Given the description of an element on the screen output the (x, y) to click on. 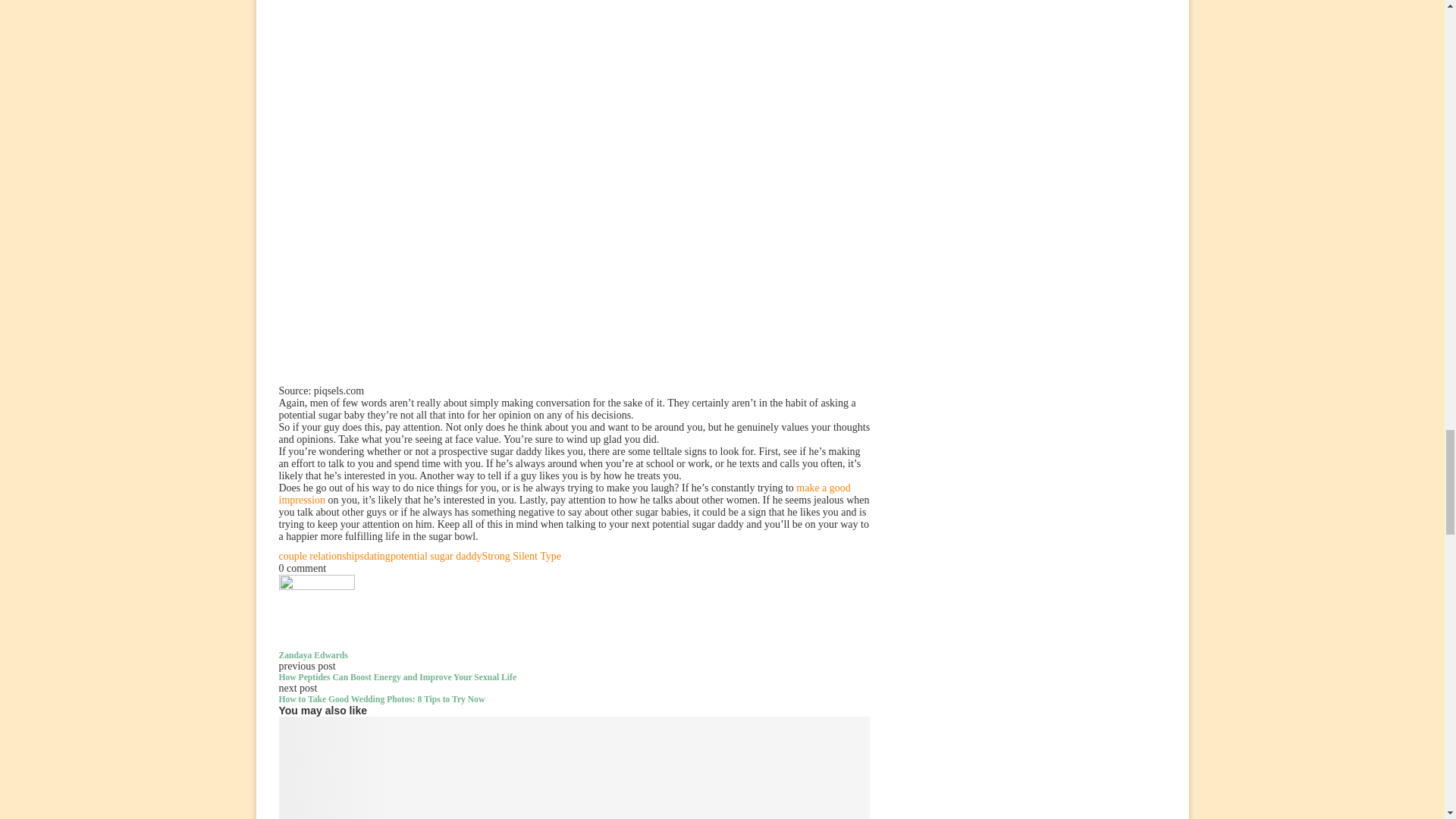
couple relationships (321, 555)
Strong Silent Type (520, 555)
Zandaya Edwards (313, 655)
Author Zandaya Edwards (313, 655)
How Peptides Can Boost Energy and Improve Your Sexual Life (574, 677)
dating (377, 555)
potential sugar daddy (435, 555)
make a good impression (564, 494)
How to Take Good Wedding Photos: 8 Tips to Try Now (574, 699)
